Given the description of an element on the screen output the (x, y) to click on. 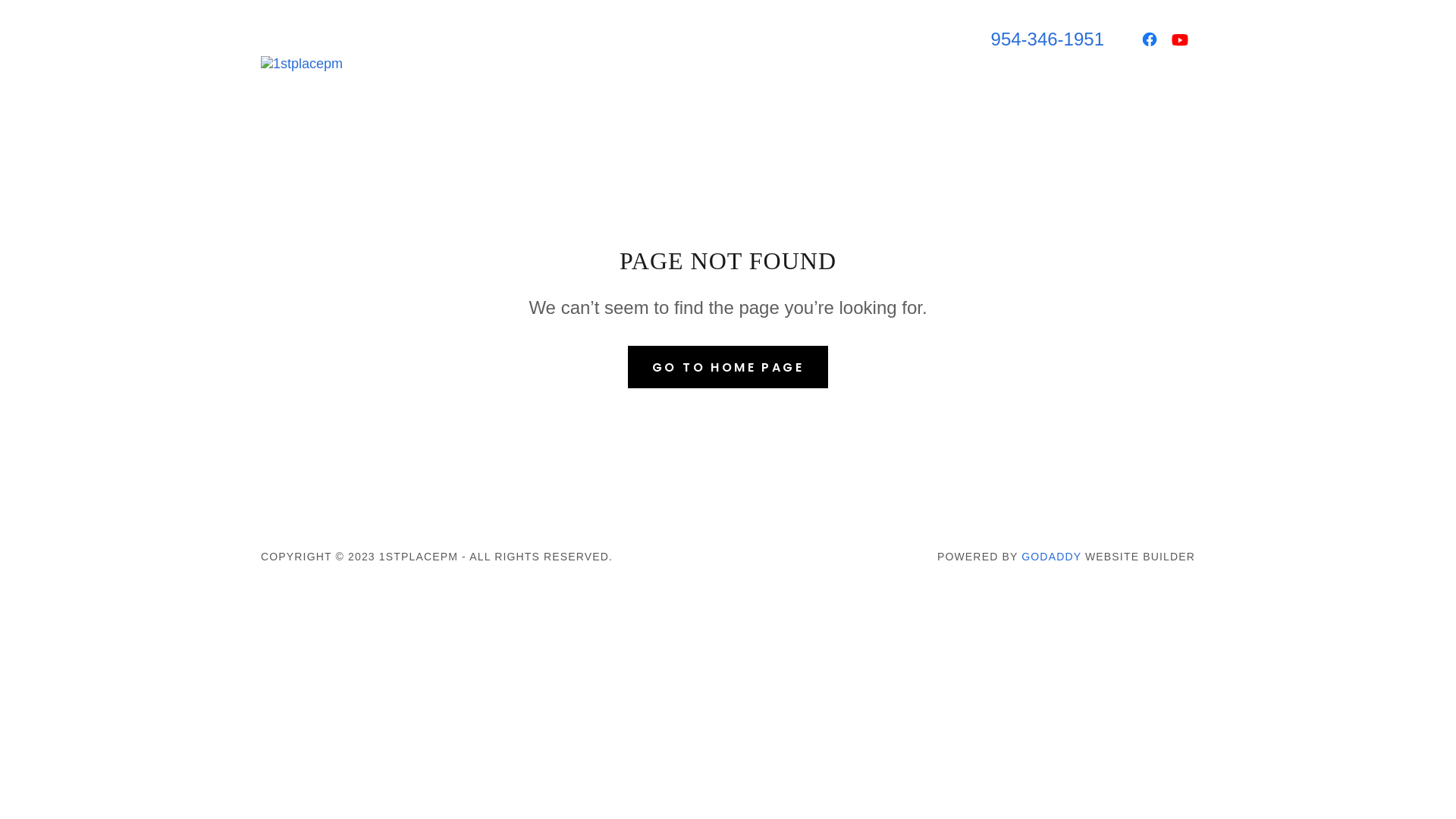
GODADDY Element type: text (1051, 556)
954-346-1951 Element type: text (1047, 38)
1stplacepm Element type: hover (301, 62)
GO TO HOME PAGE Element type: text (727, 366)
